Given the description of an element on the screen output the (x, y) to click on. 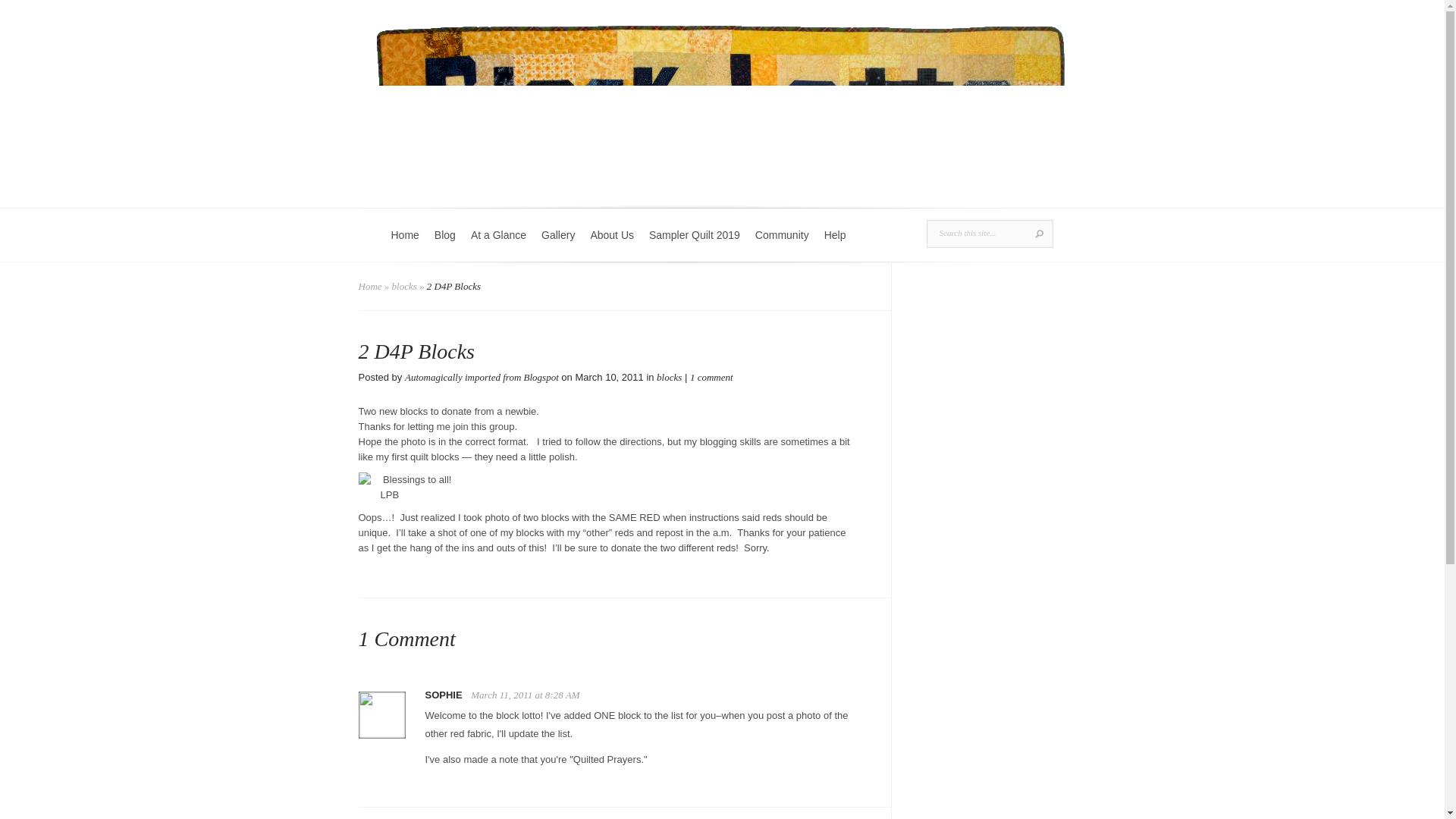
Sampler Quilt 2019 (695, 244)
At a Glance (498, 244)
Help (834, 244)
Home (405, 244)
Gallery (558, 244)
1 comment (711, 377)
blocks (668, 377)
Home (369, 285)
Automagically imported from Blogspot (481, 377)
blocks (403, 285)
